Given the description of an element on the screen output the (x, y) to click on. 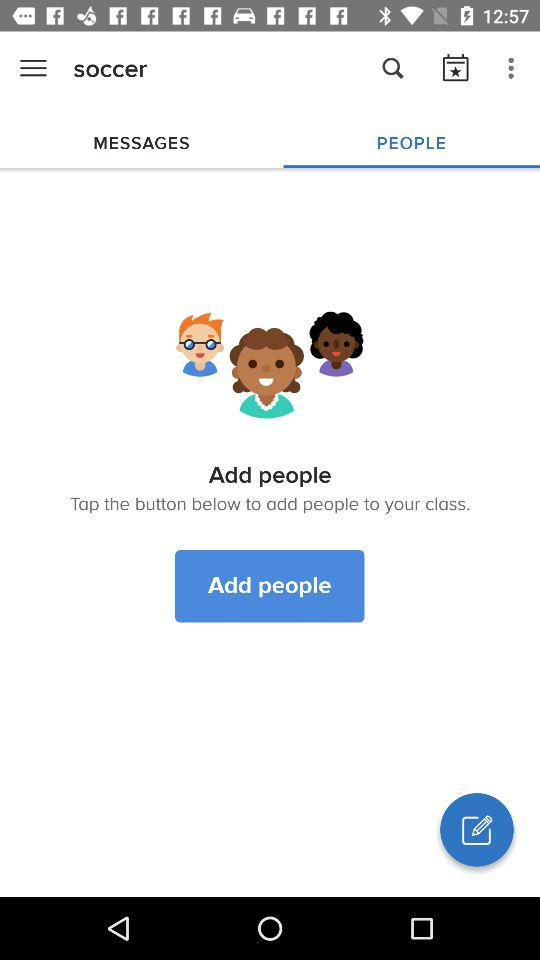
click on add people (269, 586)
click on icon right to search icon (456, 68)
click on the search icon at the top of the page (392, 68)
click on the image at bottom right corner of the page (476, 830)
